Given the description of an element on the screen output the (x, y) to click on. 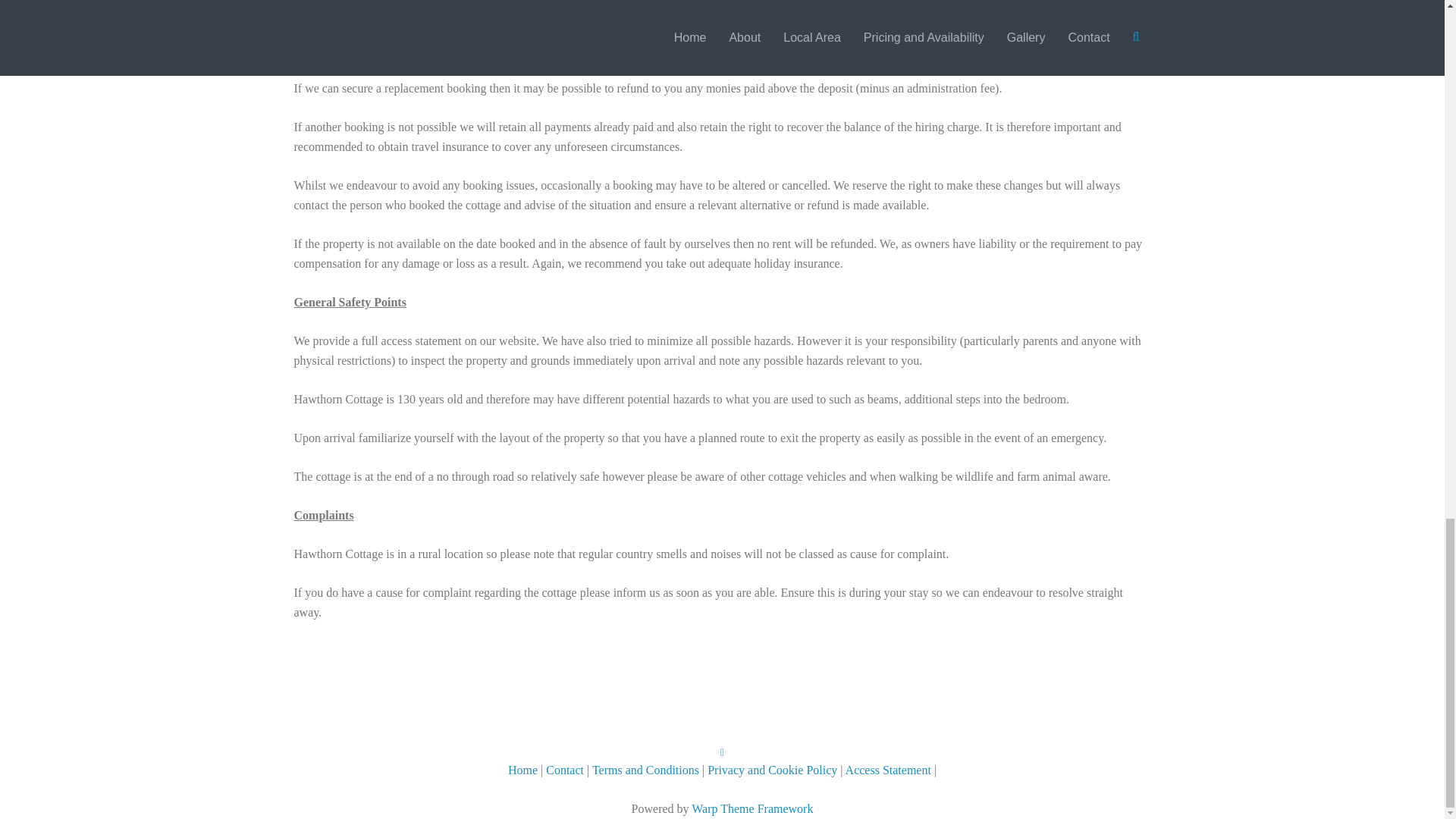
Home (522, 769)
Warp Theme Framework (751, 808)
Access Statement (888, 769)
Privacy and Cookie Policy (772, 769)
Terms and Conditions (645, 769)
Contact (566, 769)
